Given the description of an element on the screen output the (x, y) to click on. 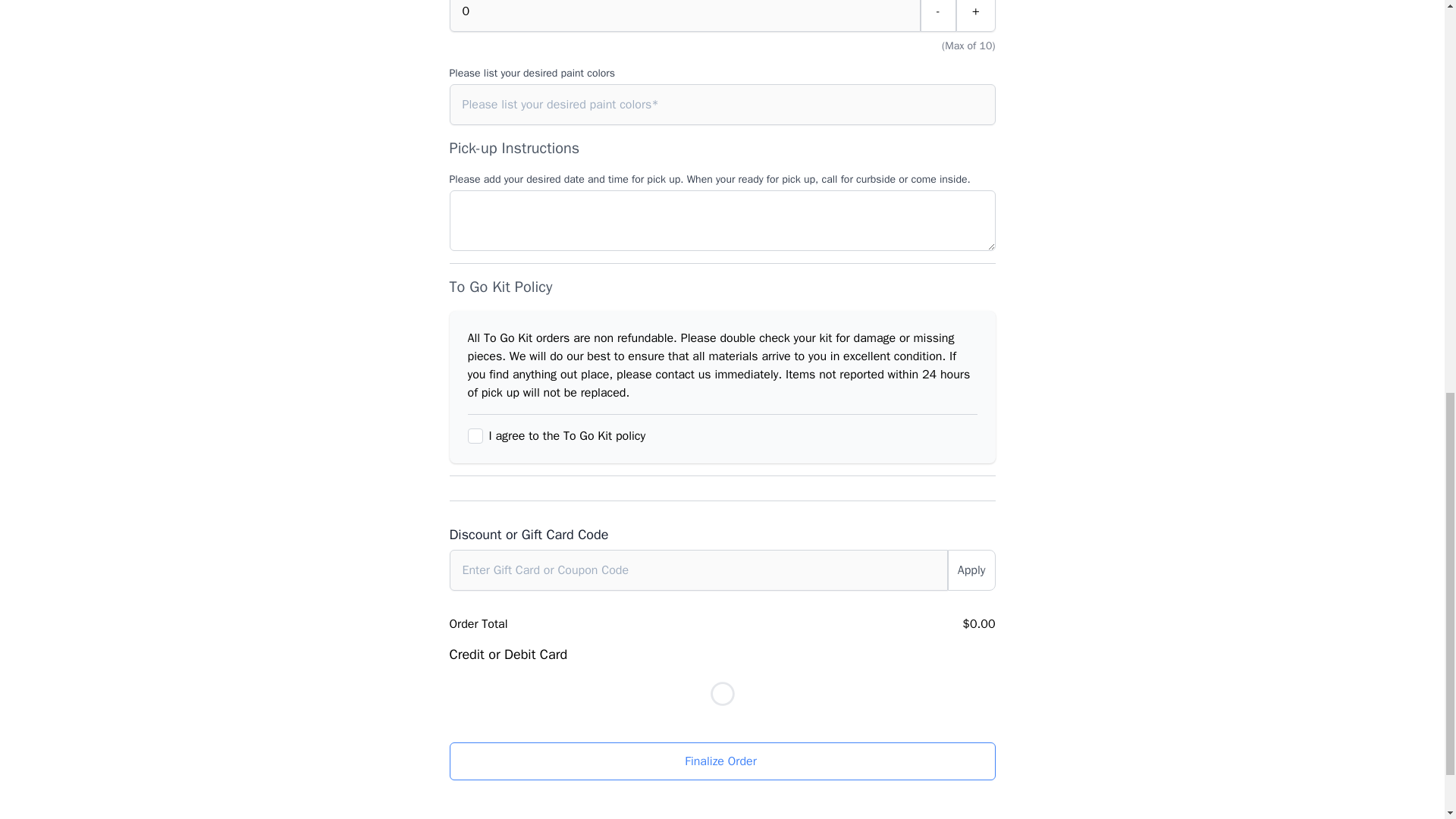
1589439 (474, 435)
0 (684, 15)
Apply (971, 569)
- (938, 15)
Finalize Order (721, 761)
